Given the description of an element on the screen output the (x, y) to click on. 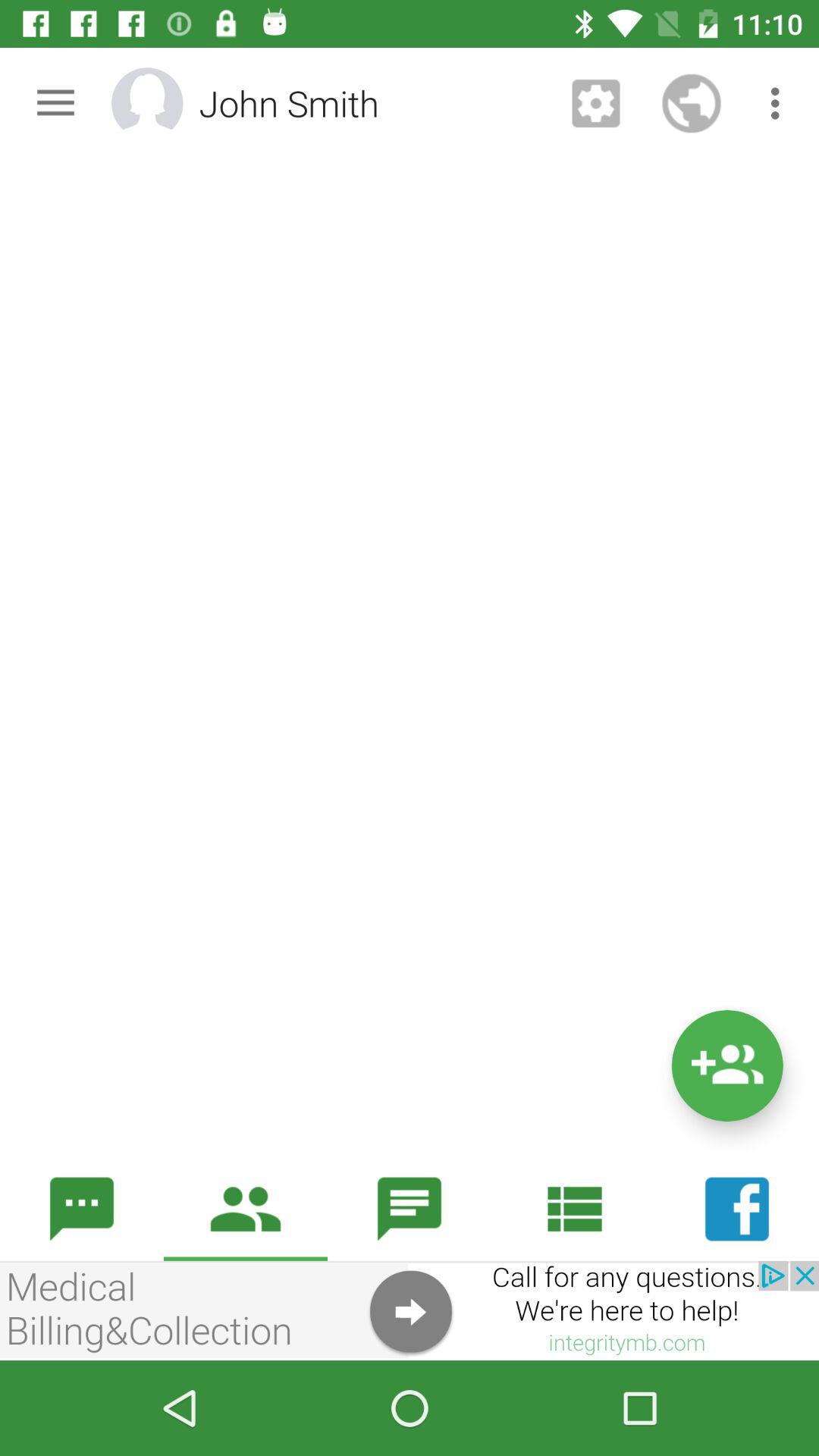
go to add option (727, 1065)
